Given the description of an element on the screen output the (x, y) to click on. 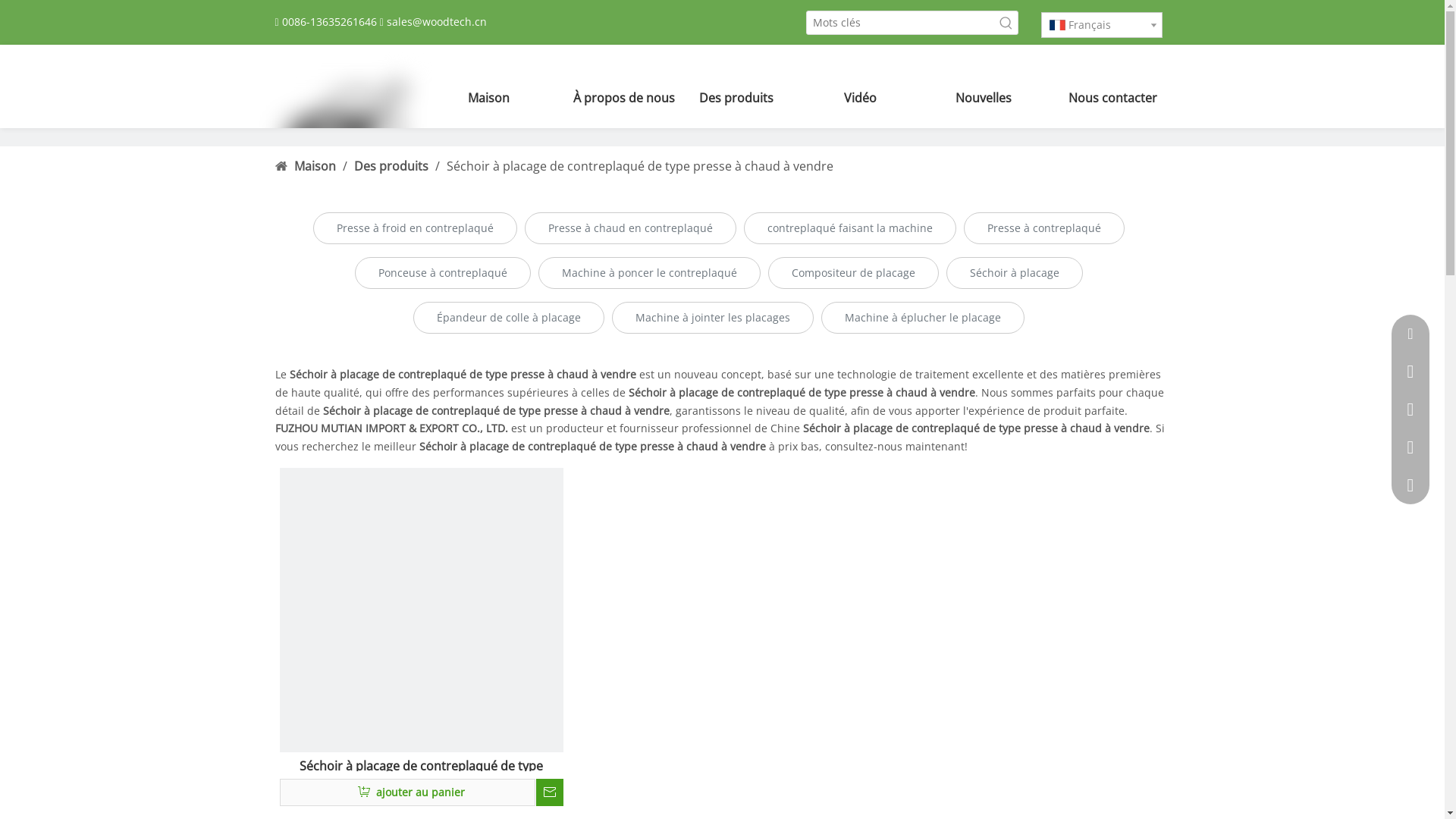
Nouvelles Element type: text (983, 97)
Des produits Element type: text (735, 97)
 ajouter au panier Element type: text (407, 792)
  Element type: text (549, 792)
Nous contacter Element type: text (1107, 97)
Compositeur de placage Element type: text (852, 272)
Maison Element type: text (316, 165)
Des produits Element type: text (391, 165)
LOGO100 Element type: hover (342, 127)
Maison Element type: text (487, 97)
sales@woodtech.cn Element type: text (436, 21)
